Given the description of an element on the screen output the (x, y) to click on. 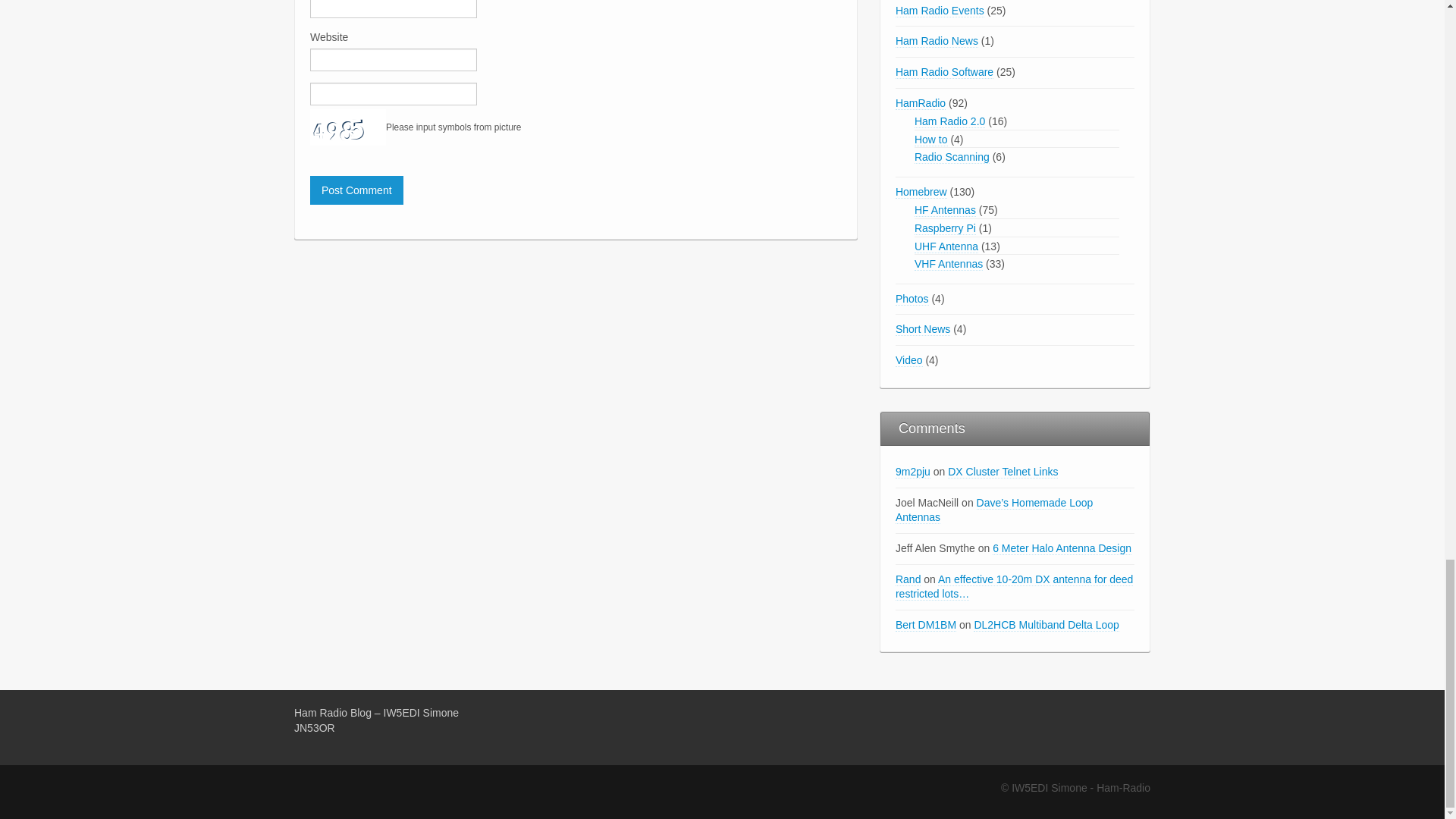
Post Comment (356, 190)
